Given the description of an element on the screen output the (x, y) to click on. 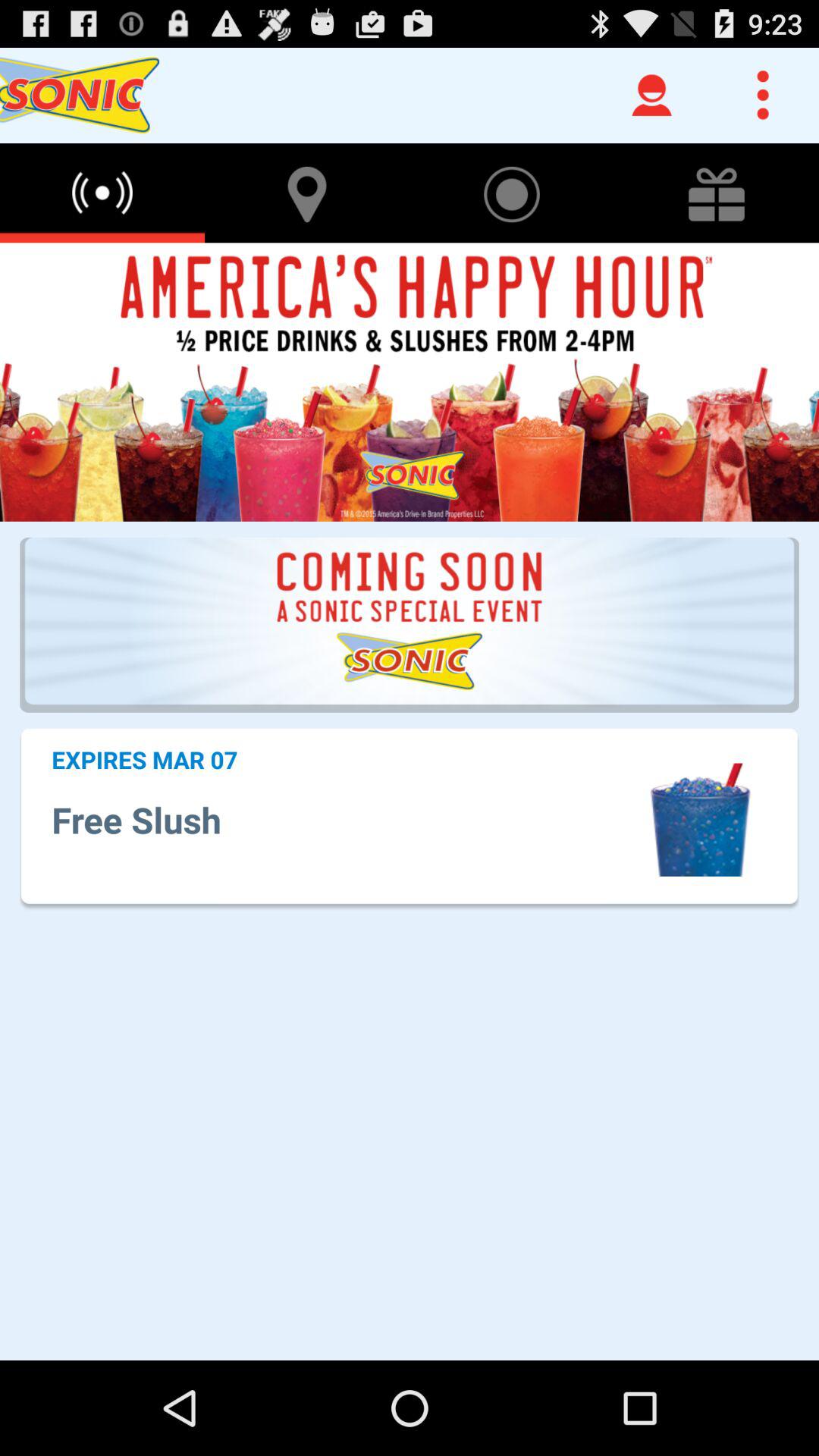
click on the user icon (651, 95)
click on the gift box (716, 192)
click on the icon which is right to free slush (700, 820)
select the icon next to the location icon (511, 192)
